Given the description of an element on the screen output the (x, y) to click on. 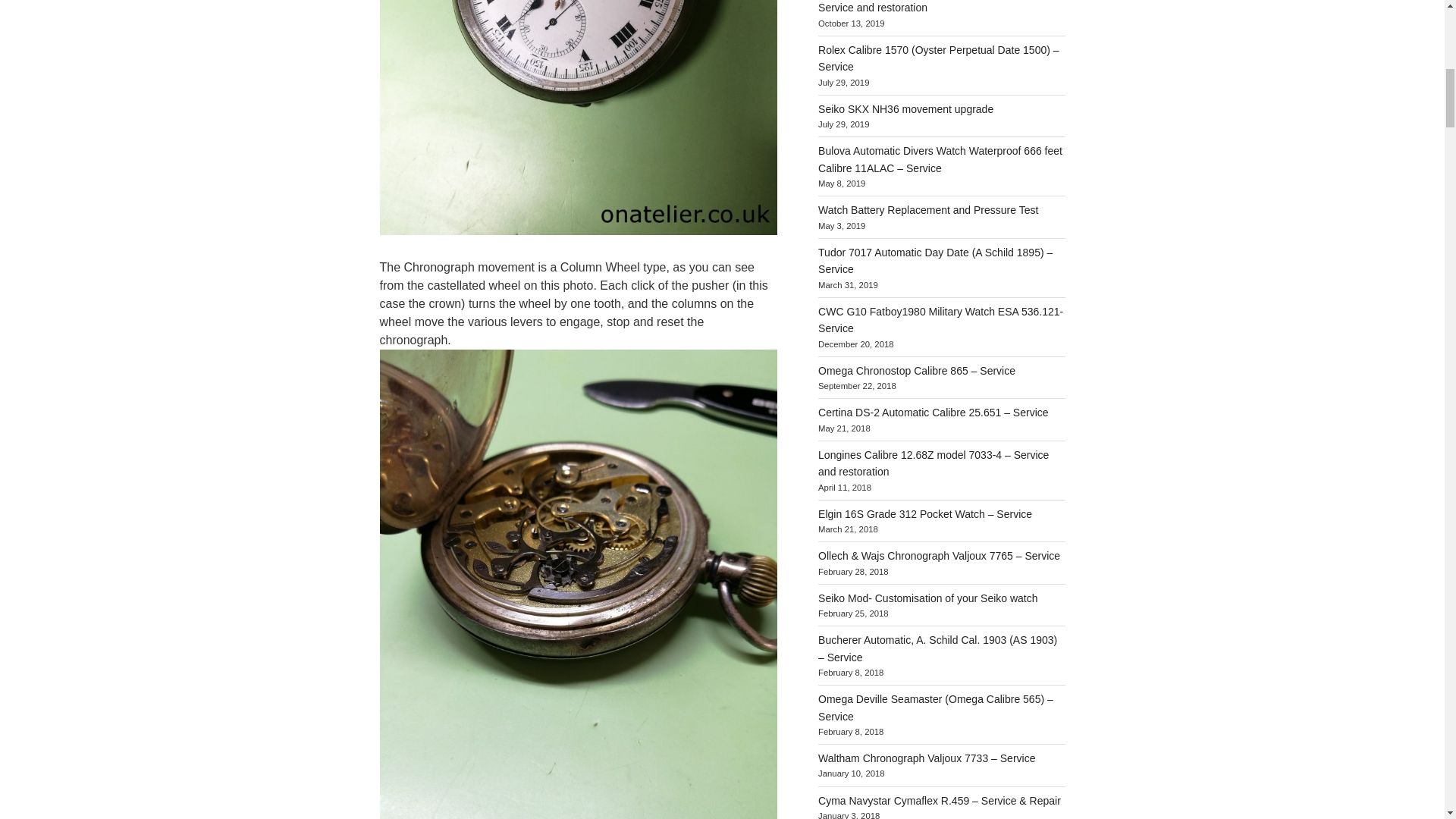
CWC G10 Fatboy1980 Military Watch ESA 536.121- Service (940, 319)
Watch Battery Replacement and Pressure Test (928, 209)
Seiko SKX NH36 movement upgrade (905, 109)
Seiko Mod- Customisation of your Seiko watch (927, 598)
